Given the description of an element on the screen output the (x, y) to click on. 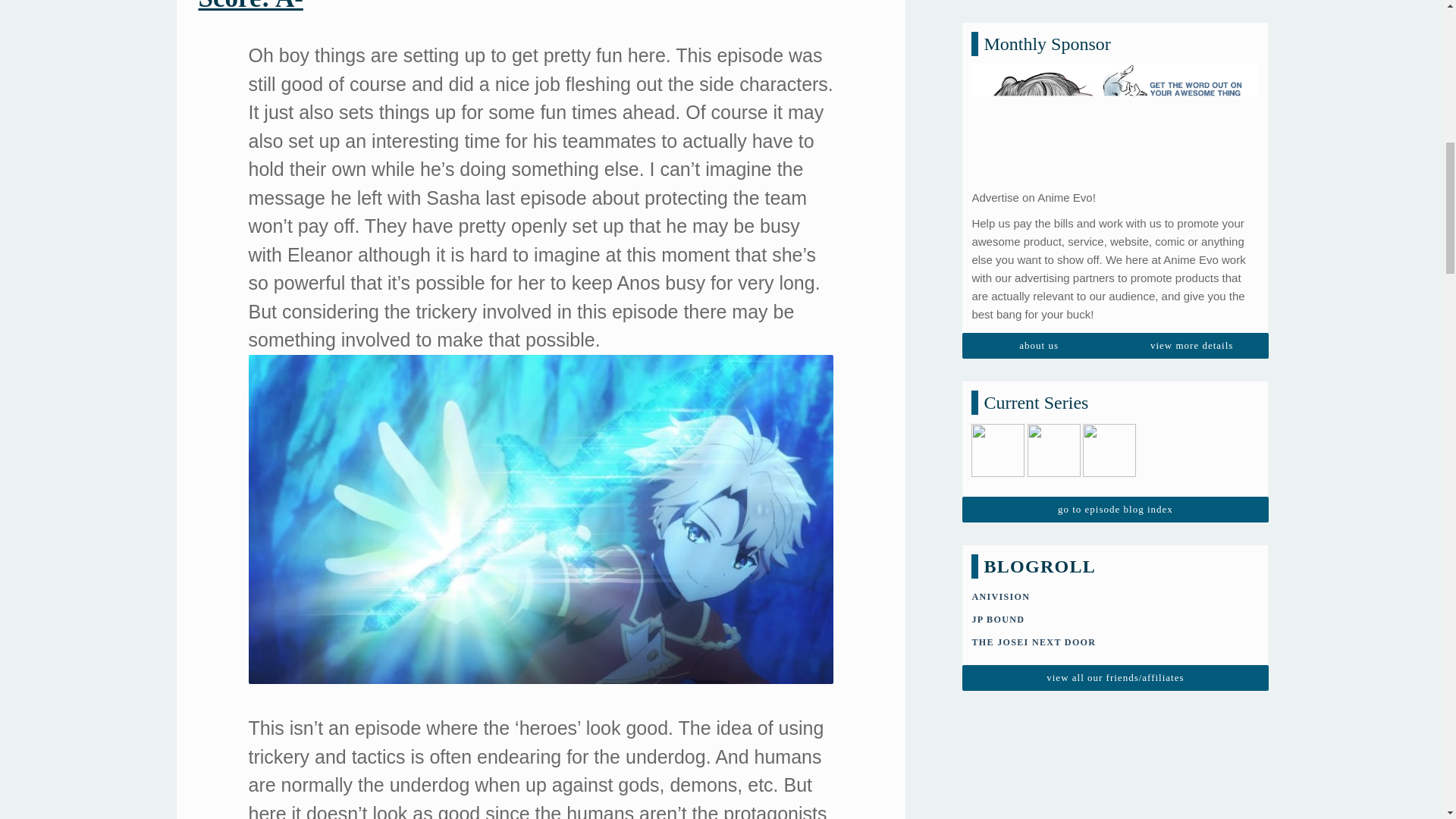
about us (1038, 124)
THE JOSEI NEXT DOOR (1033, 420)
go to episode blog index (1115, 288)
Kaguya-sama 2 EP Blog (1109, 252)
JP BOUND (998, 398)
Great Anime Blog run by Dee! (1033, 420)
ANIVISION (1000, 375)
Railgun T EP Blog (1053, 252)
view more details (1191, 124)
Shokugeki 5 EP Blog (998, 252)
